Given the description of an element on the screen output the (x, y) to click on. 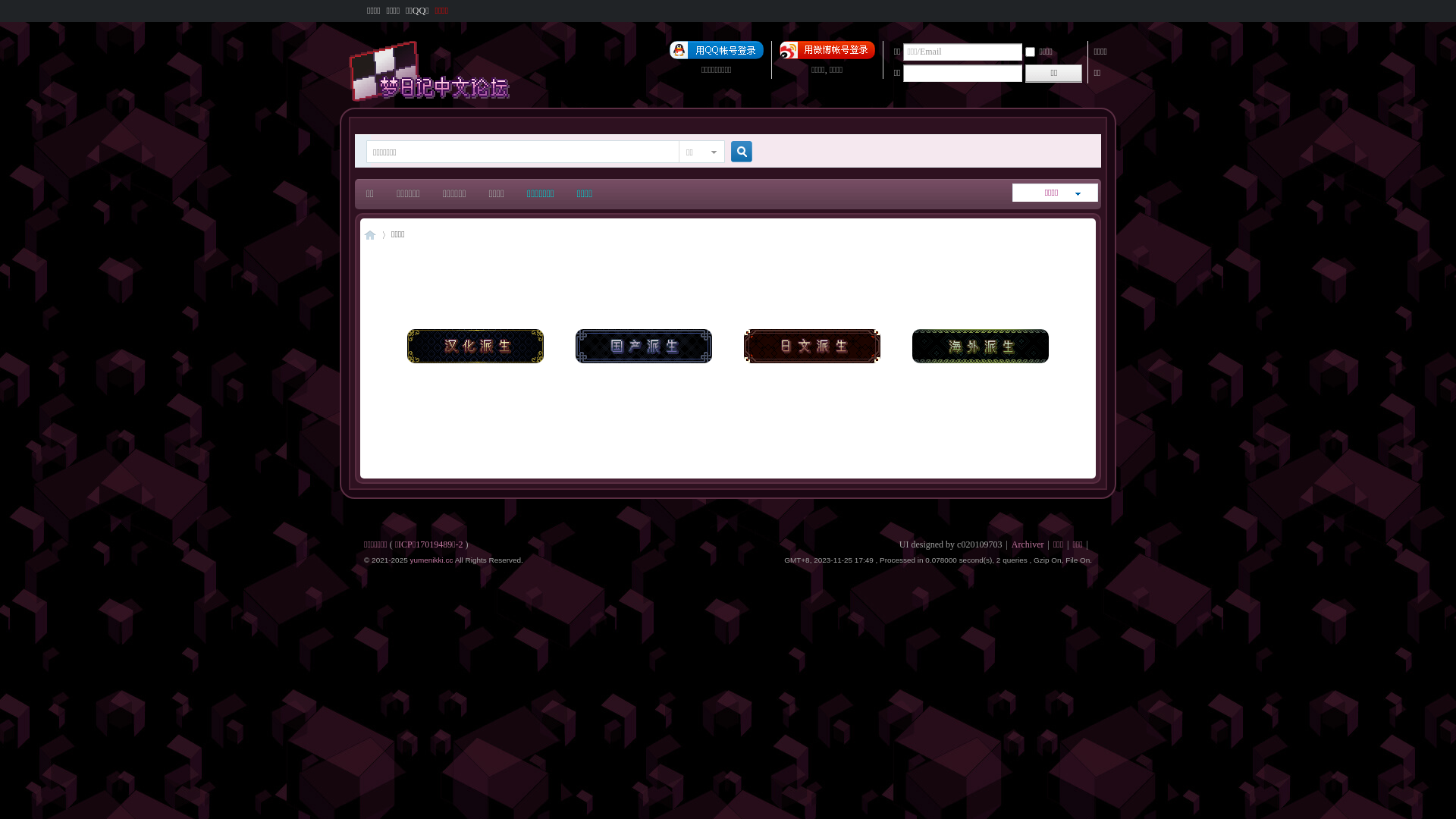
true Element type: text (735, 151)
yumenikki.cc Element type: text (430, 559)
Archiver Element type: text (1027, 544)
